Given the description of an element on the screen output the (x, y) to click on. 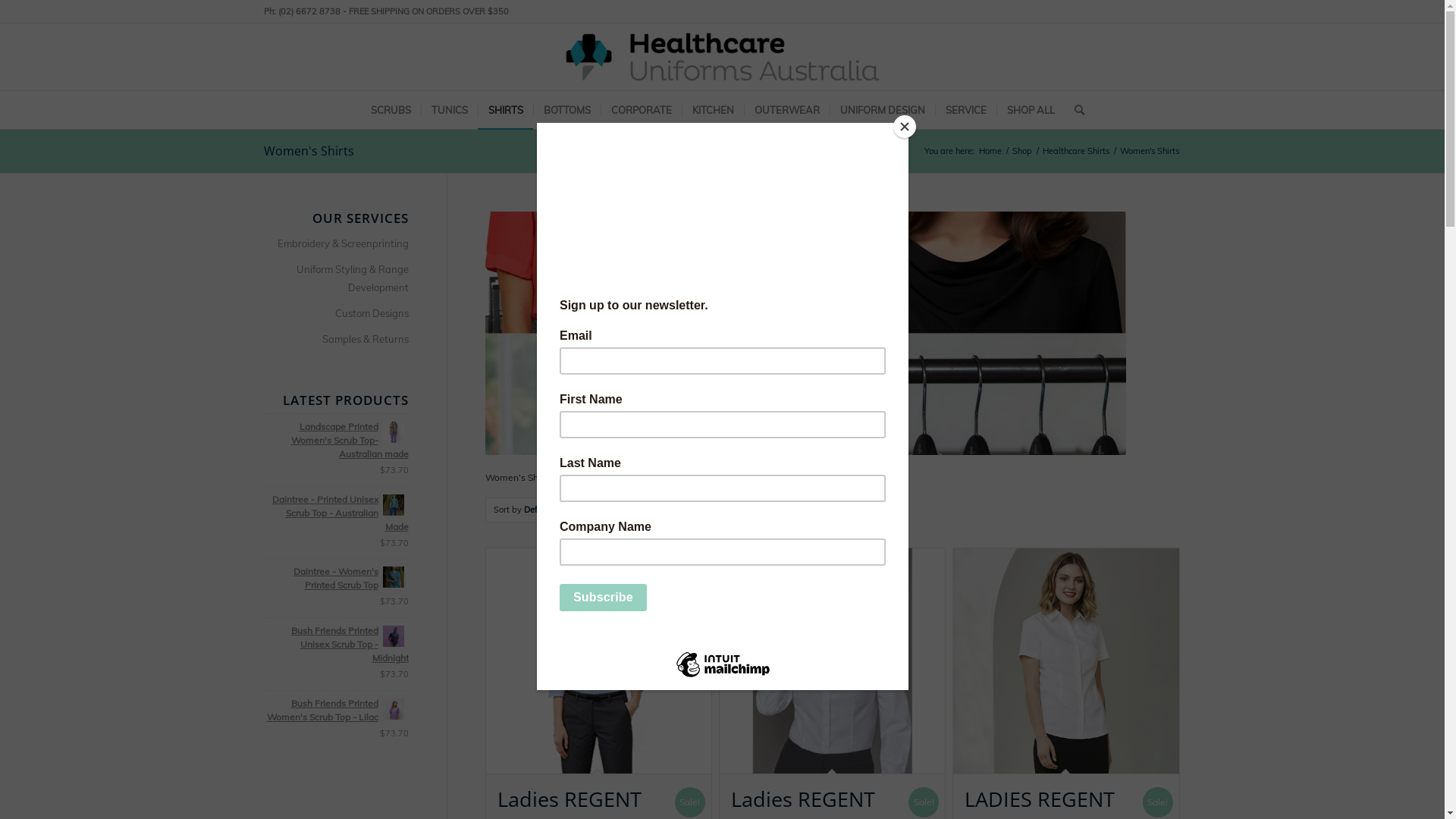
Daintree - Printed Unisex Scrub Top - Australian Made Element type: text (335, 512)
SHIRTS Element type: text (505, 109)
SHOP ALL Element type: text (1030, 109)
OUTERWEAR Element type: text (785, 109)
Shop Element type: text (1022, 150)
KITCHEN Element type: text (711, 109)
BOTTOMS Element type: text (565, 109)
Samples & Returns Element type: text (335, 339)
Custom Designs Element type: text (335, 313)
Daintree - Women's Printed Scrub Top Element type: text (335, 578)
Embroidery & Screenprinting Element type: text (335, 244)
Uniform Styling & Range Development Element type: text (335, 279)
UNIFORM DESIGN Element type: text (882, 109)
CORPORATE Element type: text (640, 109)
Bush Friends Printed Women's Scrub Top - Lilac Element type: text (335, 710)
SERVICE Element type: text (964, 109)
Home Element type: text (990, 150)
TUNICS Element type: text (448, 109)
Healthcare Shirts Element type: text (1075, 150)
Landscape Printed Women's Scrub Top- Australian made Element type: text (335, 440)
Bush Friends Printed Unisex Scrub Top - Midnight Element type: text (335, 644)
SCRUBS Element type: text (390, 109)
